Given the description of an element on the screen output the (x, y) to click on. 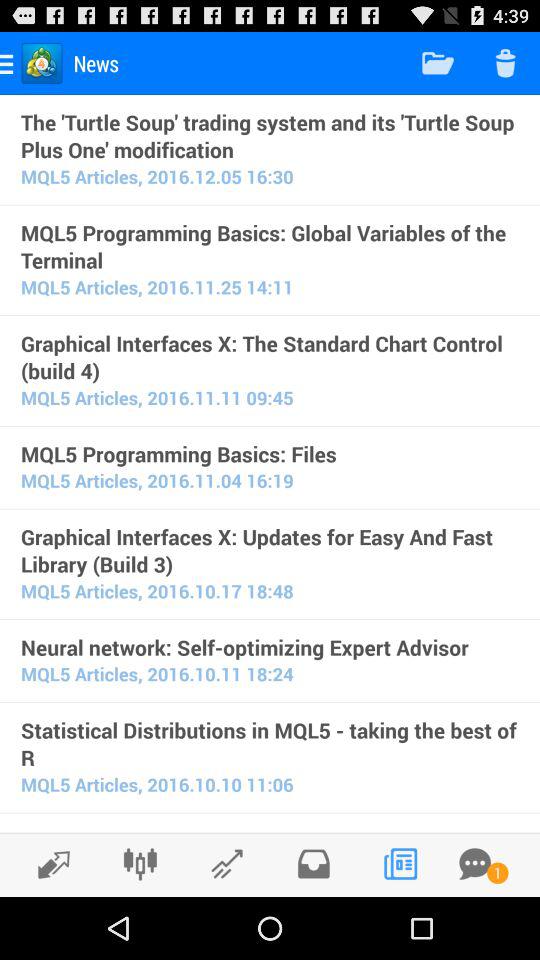
select the quick evaluation of icon (270, 829)
